Given the description of an element on the screen output the (x, y) to click on. 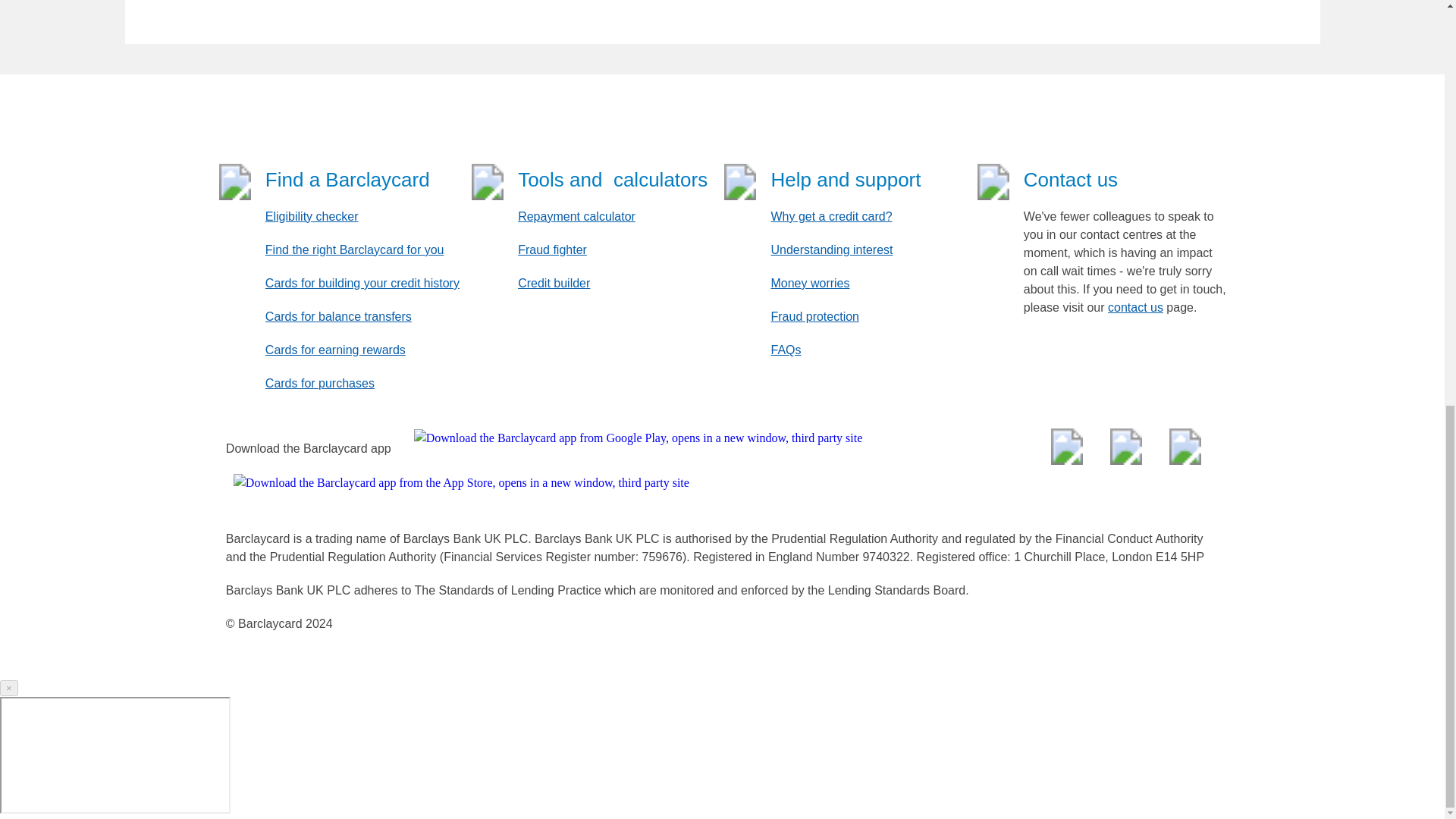
as3-login (115, 755)
